Given the description of an element on the screen output the (x, y) to click on. 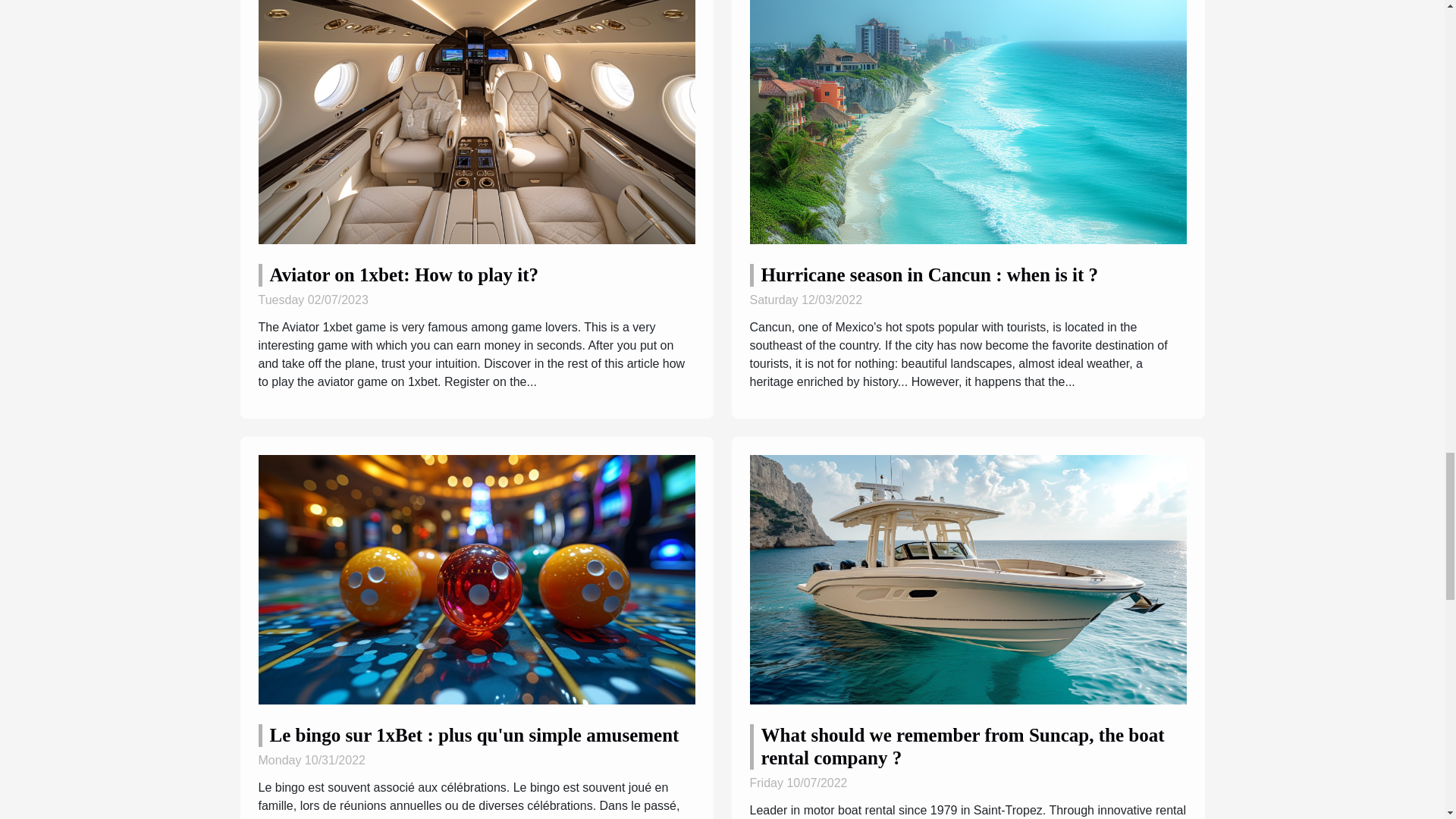
Hurricane season in Cancun : when is it ? (929, 274)
Hurricane season in Cancun : when is it ? (929, 274)
Le bingo sur 1xBet : plus qu'un simple amusement (474, 734)
Aviator on 1xbet: How to play it? (475, 117)
Le bingo sur 1xBet : plus qu'un simple amusement (474, 734)
Le bingo sur 1xBet : plus qu'un simple amusement (475, 577)
Hurricane season in Cancun : when is it ? (967, 117)
Aviator on 1xbet: How to play it? (403, 274)
Aviator on 1xbet: How to play it? (403, 274)
